Given the description of an element on the screen output the (x, y) to click on. 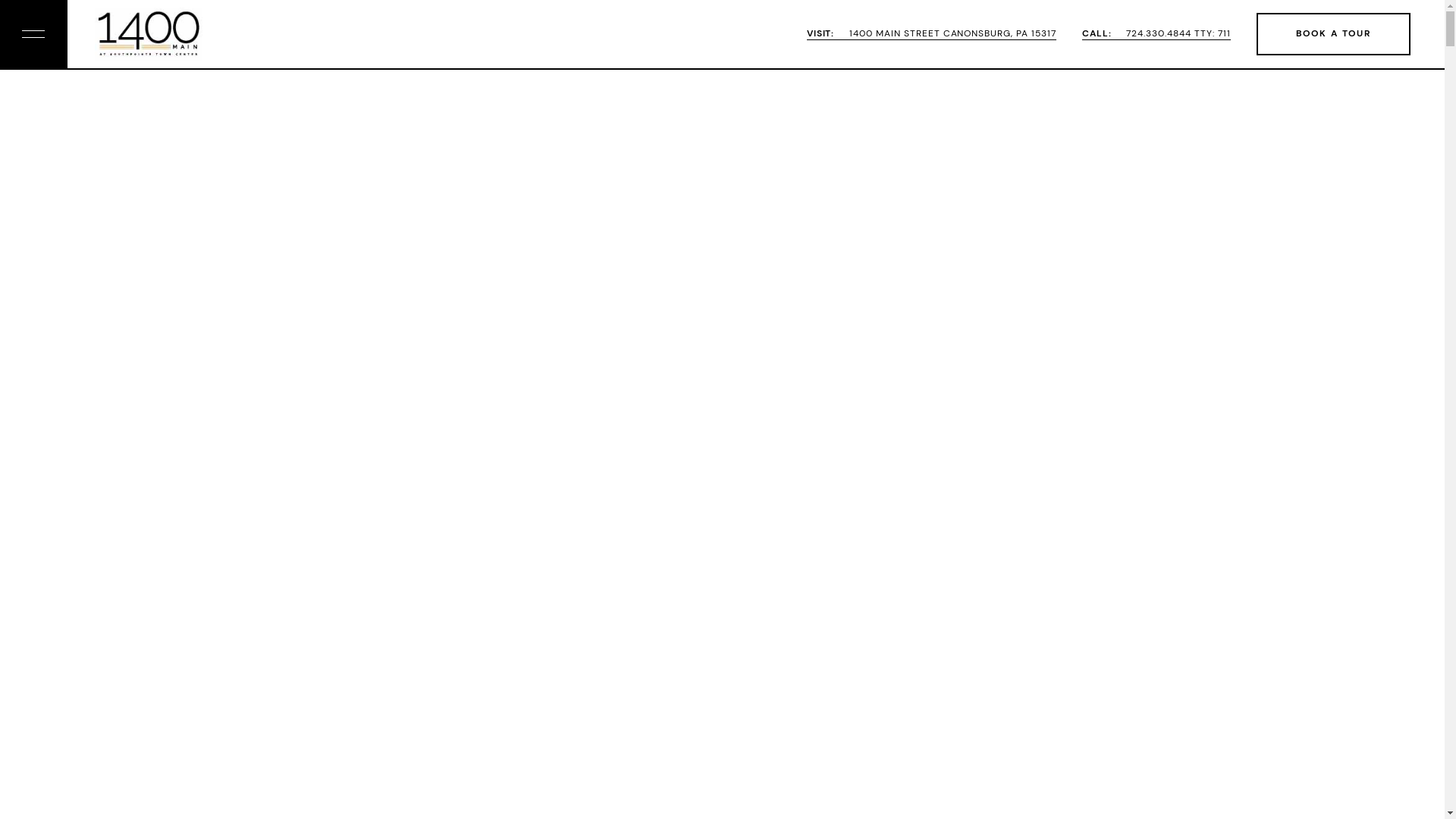
VISIT:     1400 MAIN STREET CANONSBURG, PA 15317 Element type: text (931, 34)
CALL:     724.330.4844 TTY: 711 Element type: text (1156, 34)
Skip to primary navigation Element type: text (0, 0)
BOOK A TOUR Element type: text (1333, 33)
